Given the description of an element on the screen output the (x, y) to click on. 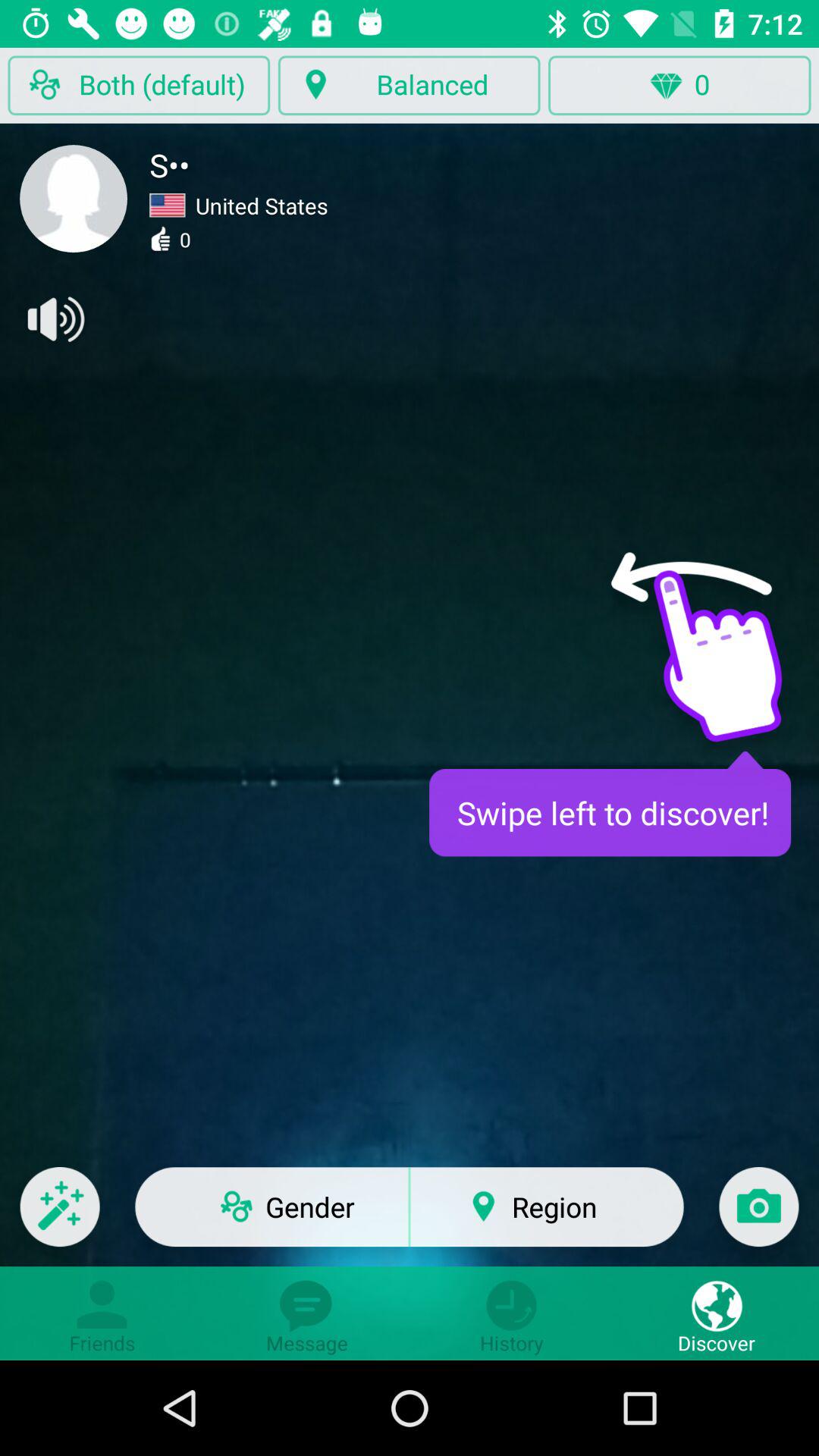
open profile (73, 198)
